Given the description of an element on the screen output the (x, y) to click on. 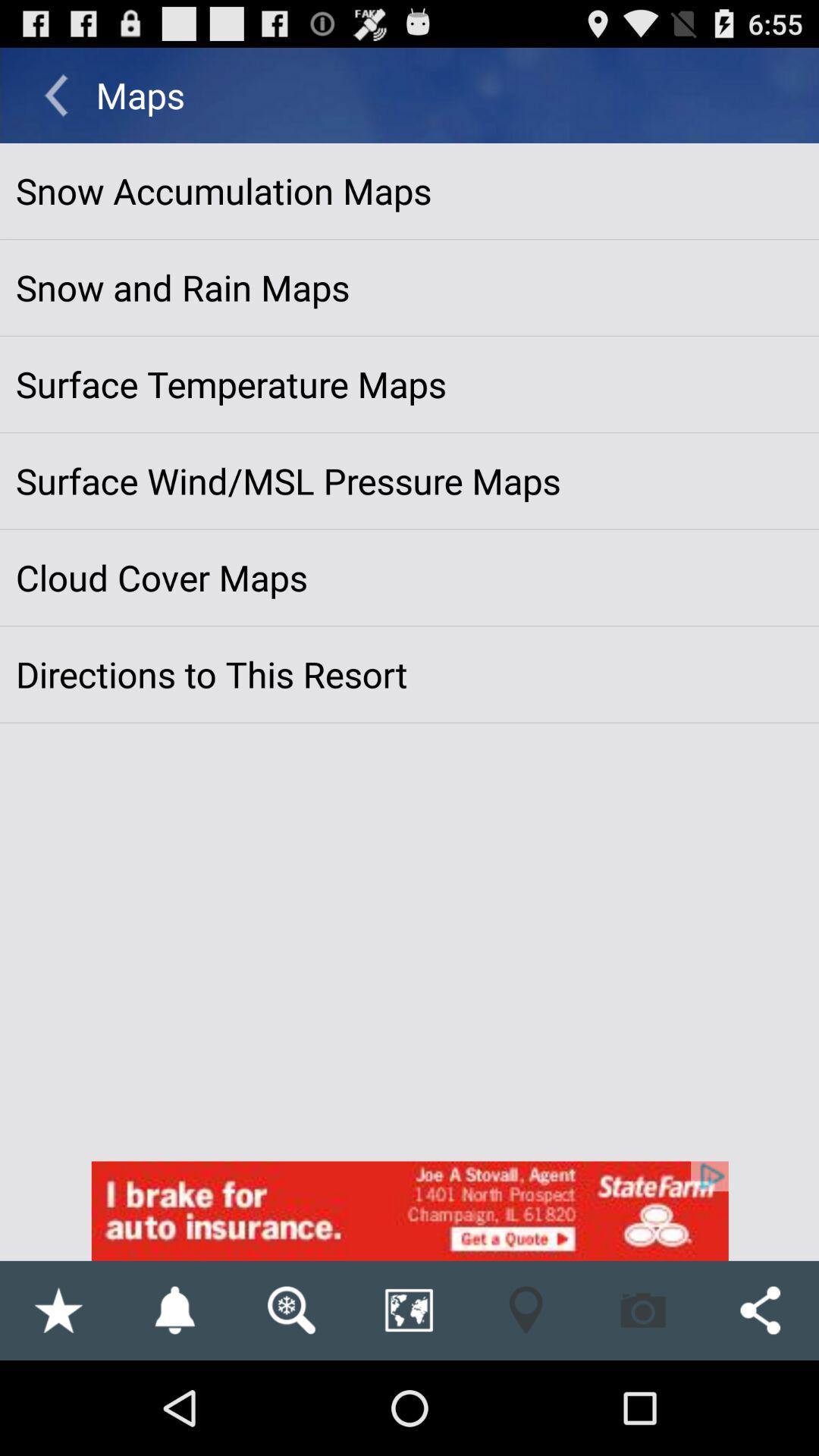
this button start the camera (642, 1310)
